Given the description of an element on the screen output the (x, y) to click on. 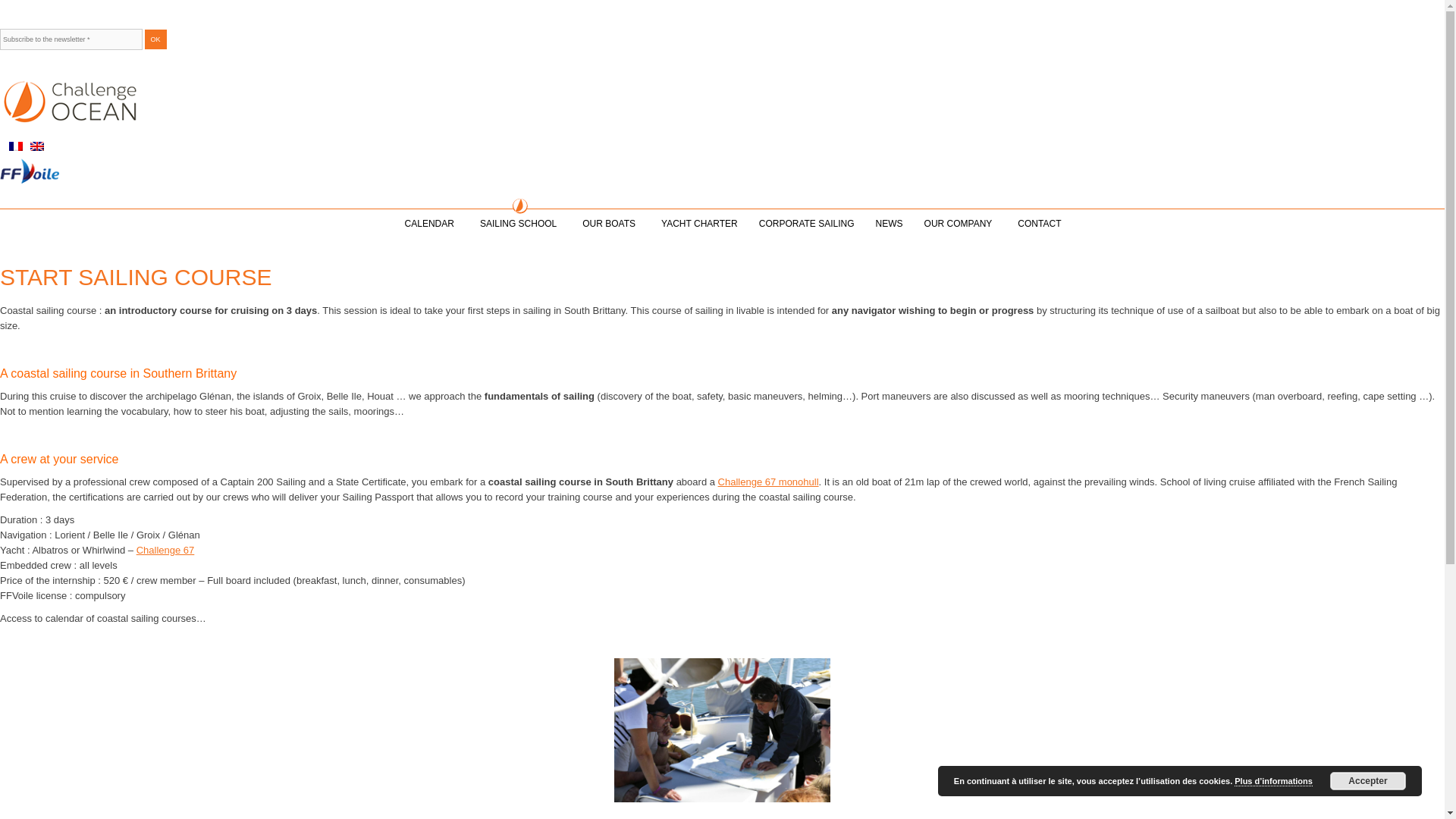
CHALLENGE OCEAN (69, 122)
CALENDAR (431, 223)
OUR COMPANY (960, 223)
CORPORATE SAILING (806, 223)
SAILING SCHOOL (520, 223)
Subscribe to the newsletter (71, 38)
YACHT CHARTER (699, 223)
Challenge 67 monohull (767, 481)
NEWS (889, 223)
OUR BOATS (611, 223)
OK (155, 39)
CONTACT (1039, 223)
OK (155, 39)
Challenge 67 (165, 550)
